Given the description of an element on the screen output the (x, y) to click on. 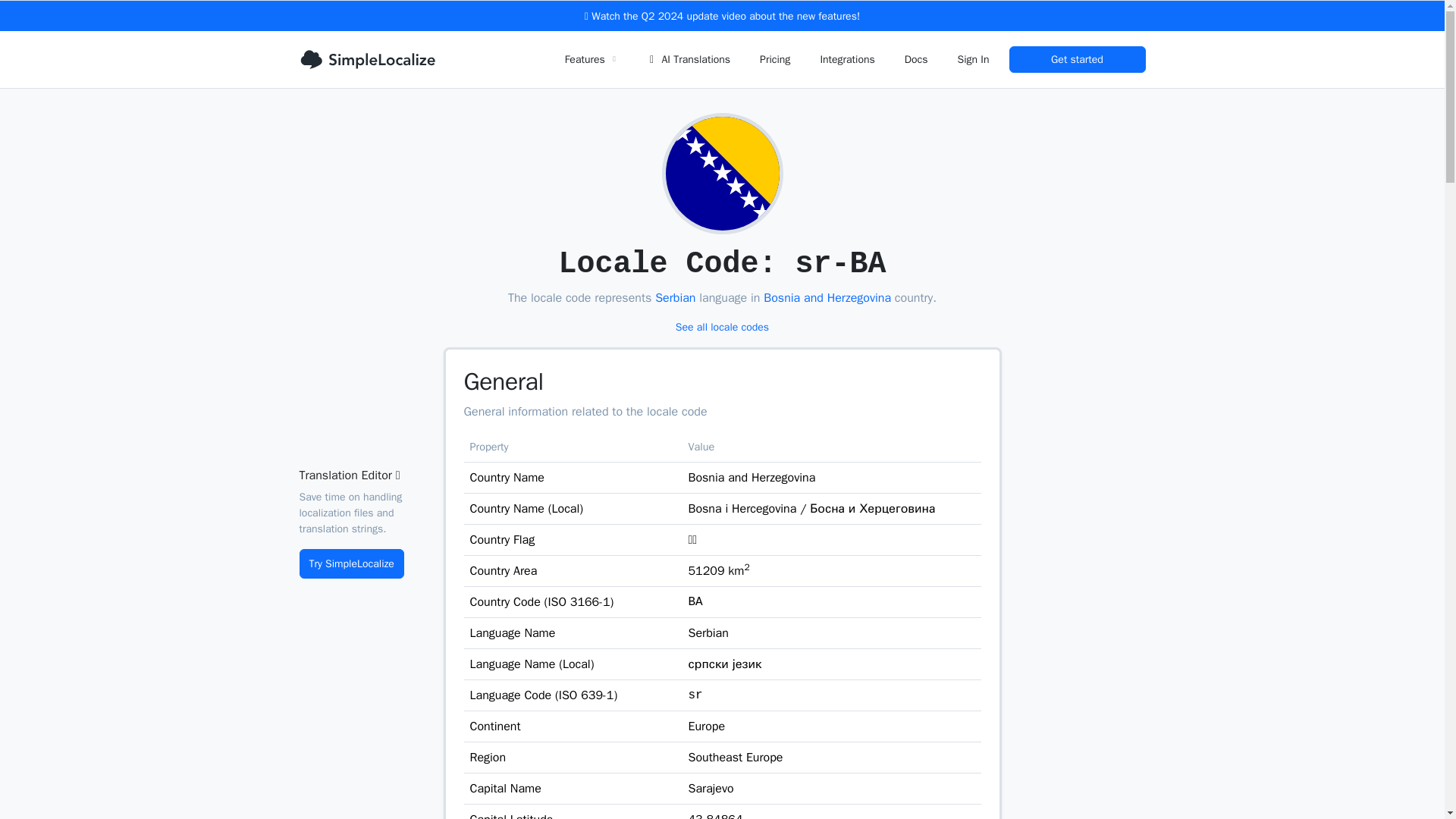
Docs (916, 58)
View Serbian language details (675, 297)
Get started (1076, 58)
Bosnia and Herzegovina (826, 297)
Features   (590, 58)
Try SimpleLocalize (350, 563)
View Bosnia and Herzegovina country details (826, 297)
Sign In (972, 58)
AI Translations (686, 58)
Serbian (675, 297)
Pricing (774, 58)
Integrations (846, 58)
See all locale codes (721, 326)
